Given the description of an element on the screen output the (x, y) to click on. 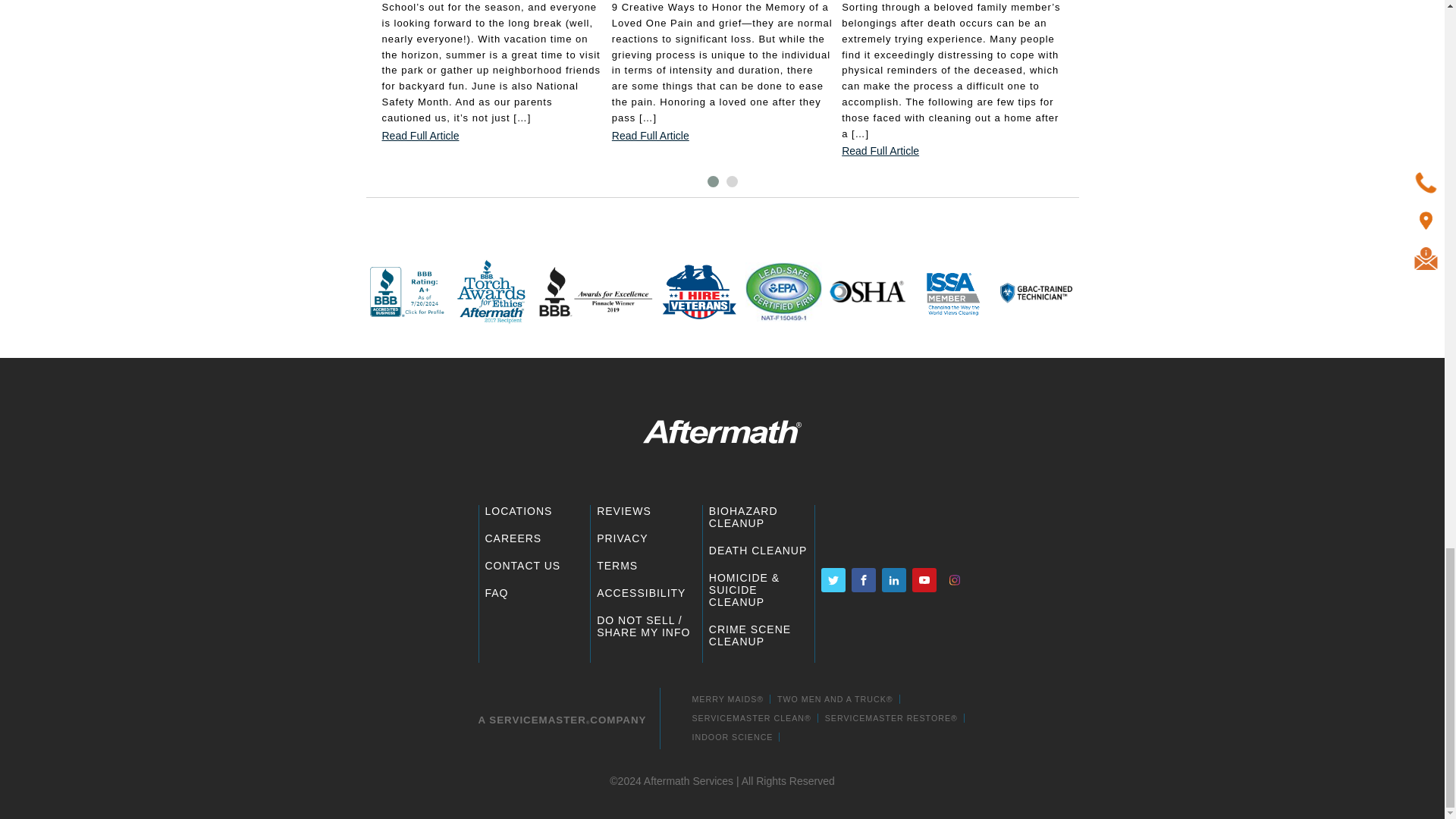
Aftermath Services BBB Business Review (595, 292)
